Given the description of an element on the screen output the (x, y) to click on. 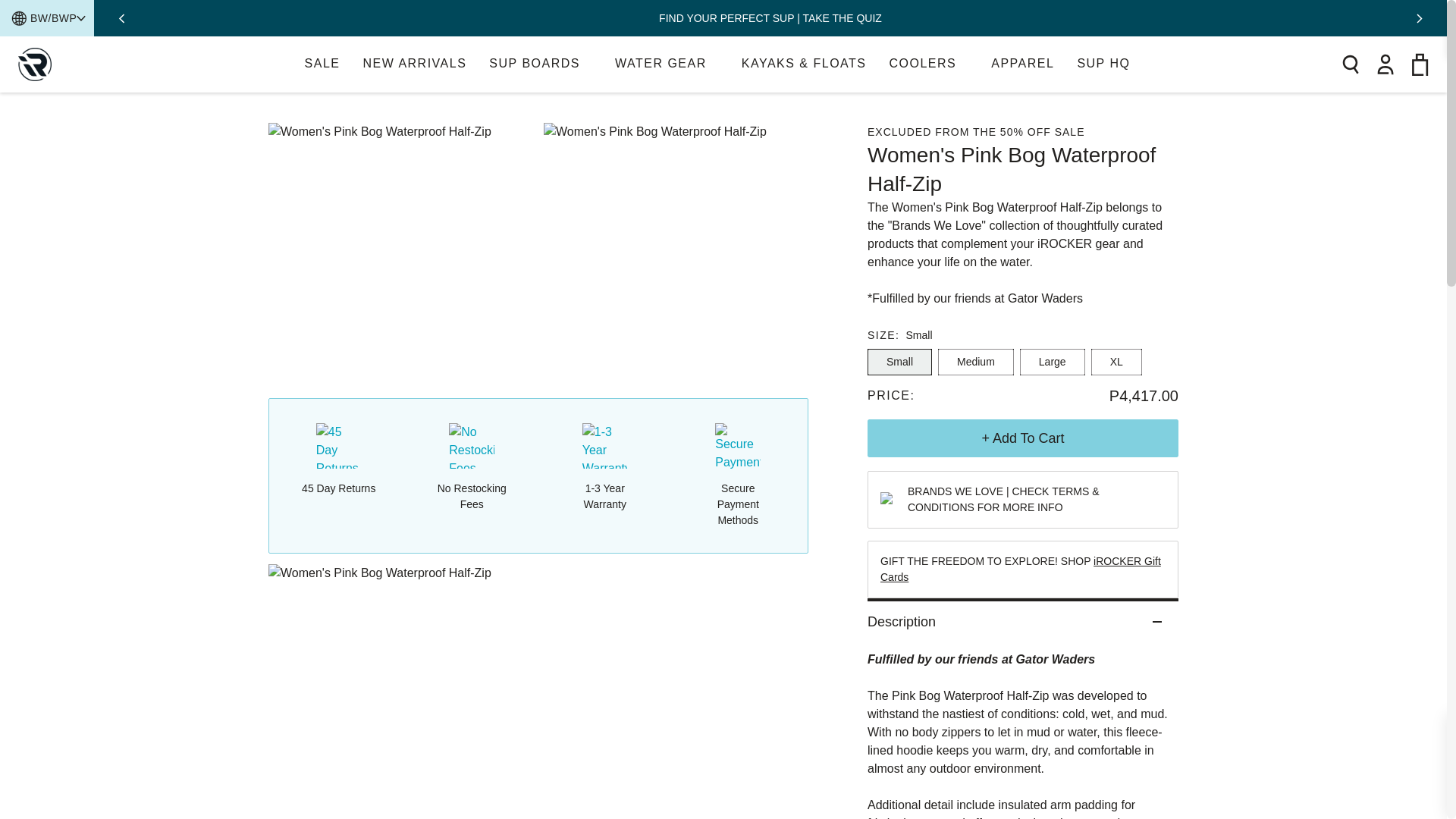
Medium (975, 361)
NEW ARRIVALS (413, 63)
Water Gear (413, 63)
 Sale (666, 63)
SUP HQ (322, 63)
Large (1109, 63)
iROCKER US (1052, 361)
XL (33, 64)
